Given the description of an element on the screen output the (x, y) to click on. 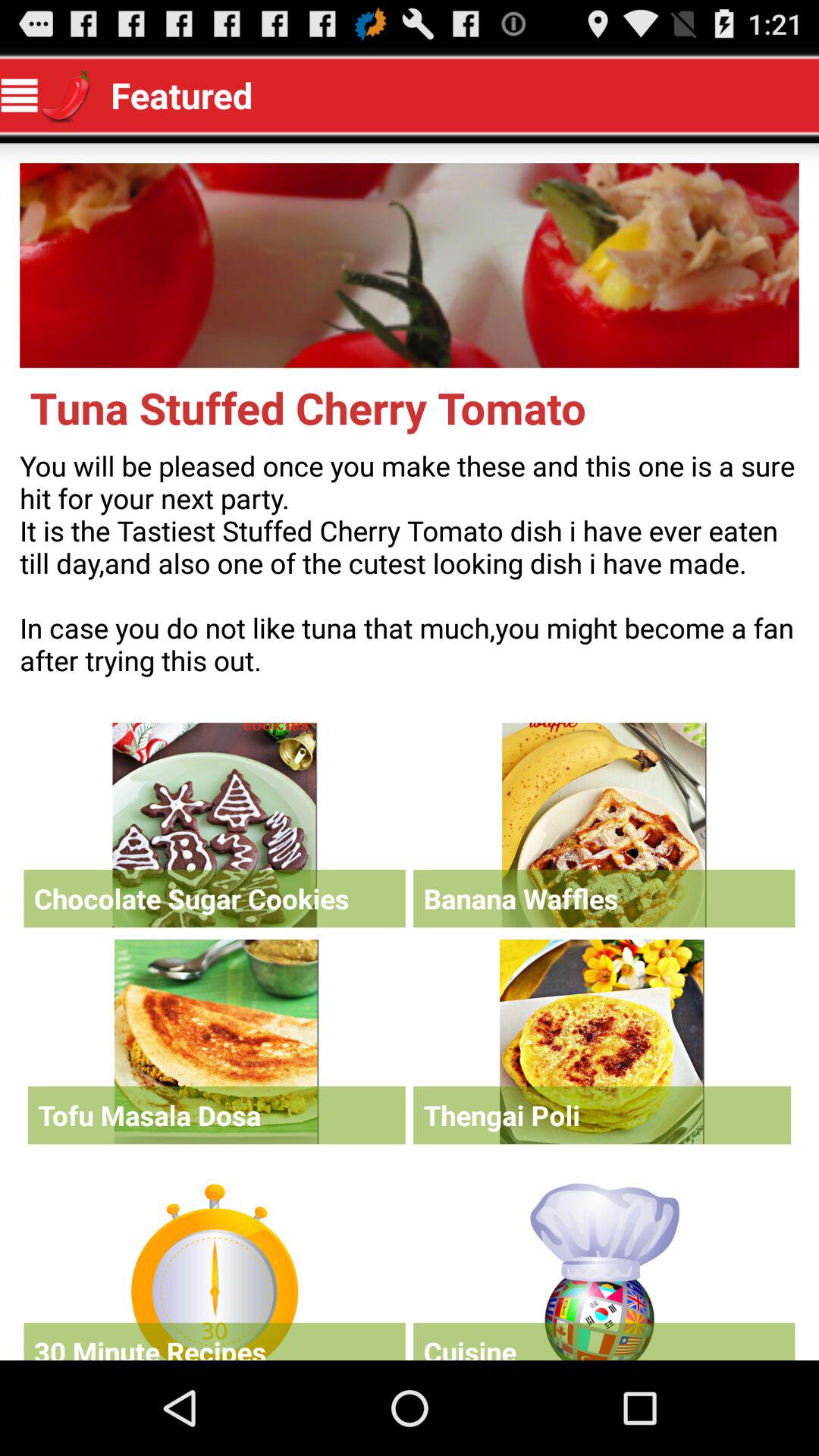
select recipe category (604, 1268)
